Given the description of an element on the screen output the (x, y) to click on. 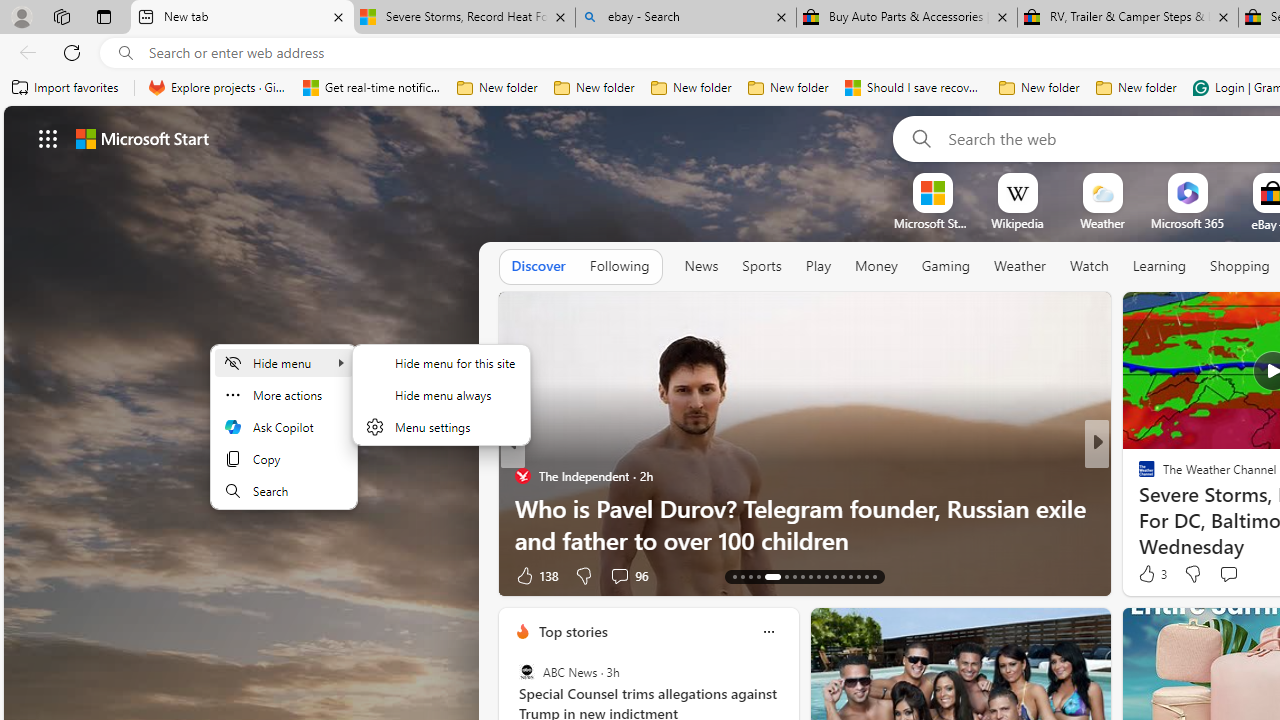
View comments 167 Comment (1247, 574)
Hide menu (284, 362)
Verywell Mind (1138, 507)
32 Like (1149, 574)
App launcher (47, 138)
The Independent (522, 475)
AutomationID: tab-14 (742, 576)
